Given the description of an element on the screen output the (x, y) to click on. 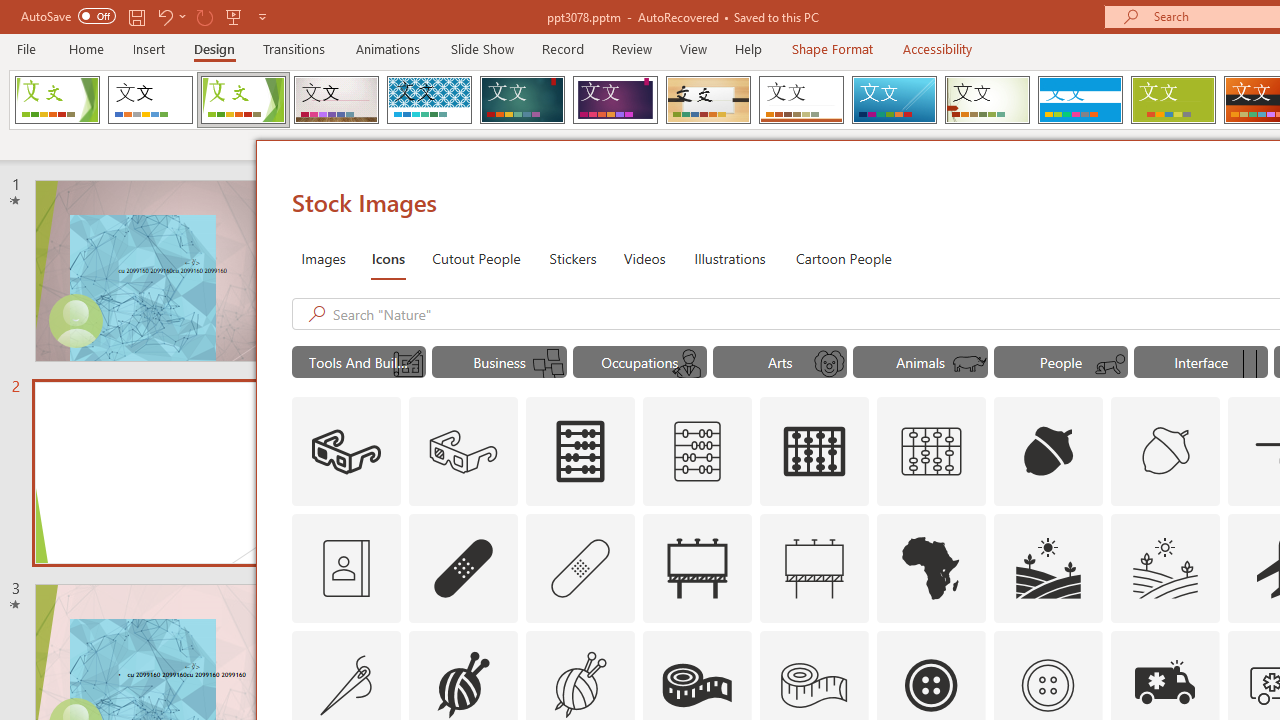
Images (322, 258)
Illustrations (729, 258)
AutomationID: Icons_3dGlasses (346, 452)
AutomationID: Icons_JudgeMale_M (688, 364)
AutomationID: Icons_Africa (931, 568)
Dividend (57, 100)
AutomationID: Icons_Abacus1 (815, 452)
"Interface" Icons. (1201, 362)
AutomationID: Icons_Rhino_M (970, 364)
